Given the description of an element on the screen output the (x, y) to click on. 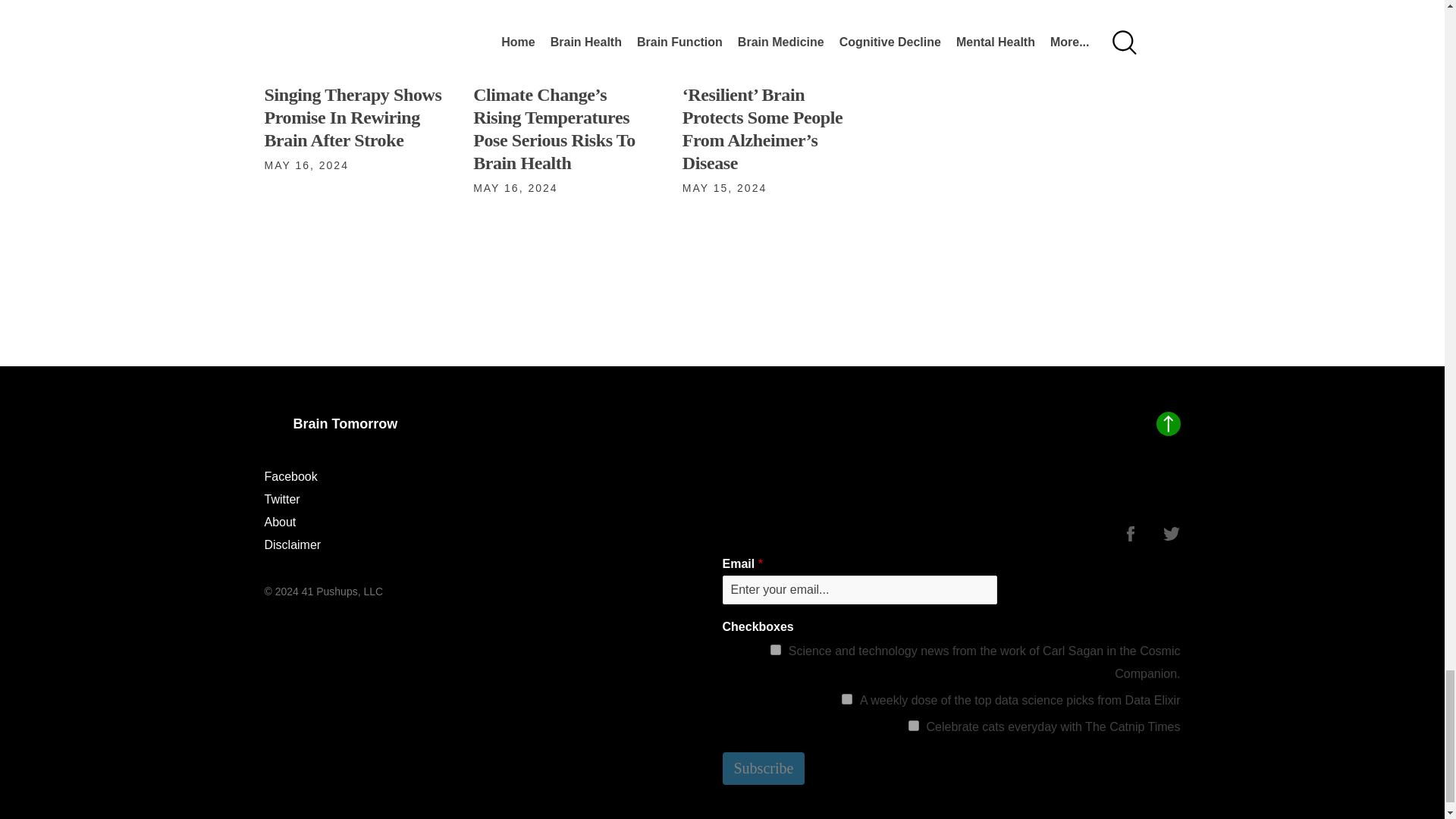
A weekly dose of the top data science picks from Data Elixir (846, 698)
Celebrate cats everyday with The Catnip Times (913, 725)
